Given the description of an element on the screen output the (x, y) to click on. 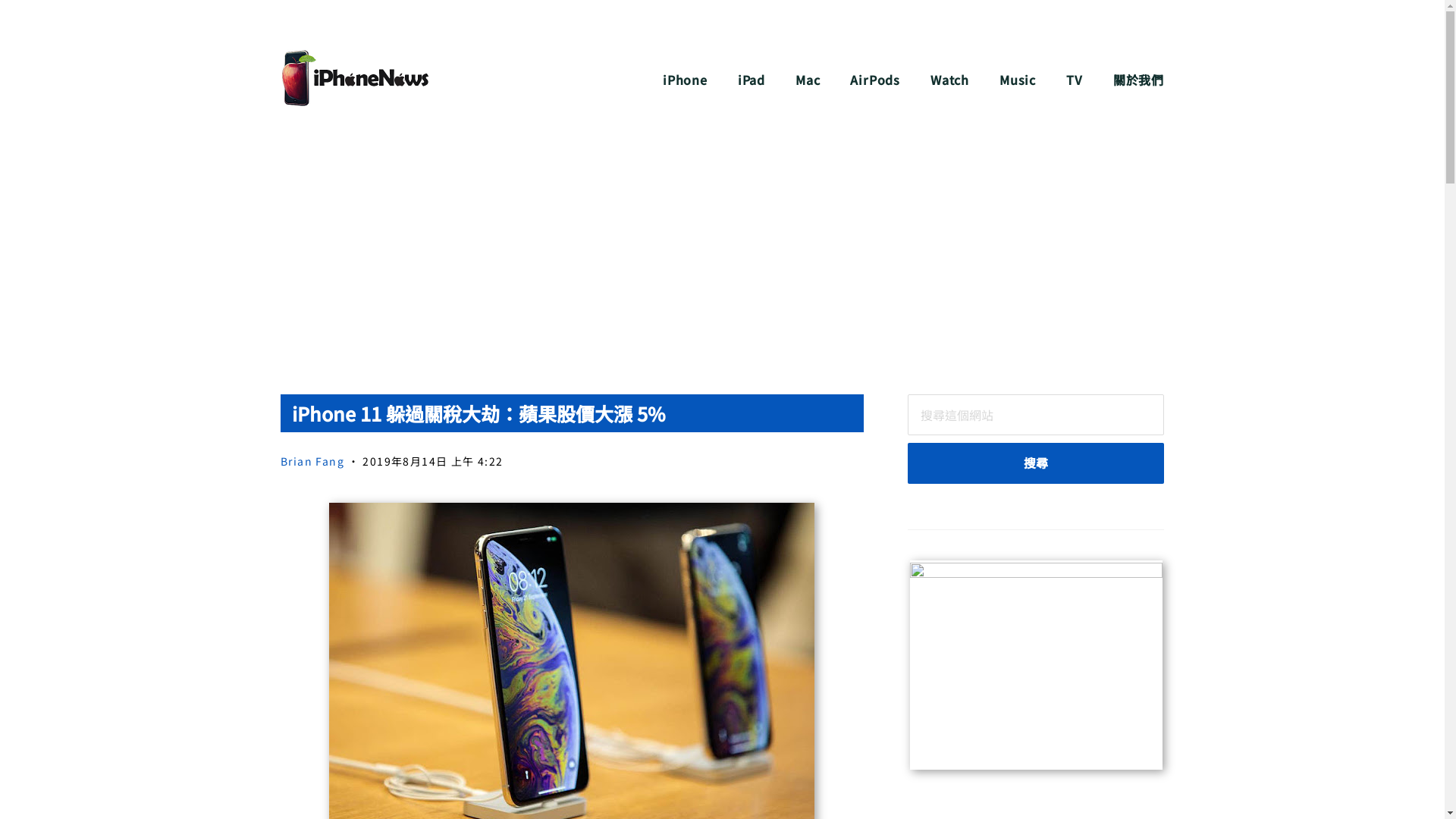
Brian Fang Element type: text (312, 460)
Music Element type: text (1017, 80)
TV Element type: text (1074, 80)
Advertisement Element type: hover (721, 257)
Watch Element type: text (949, 80)
Mac Element type: text (807, 80)
iPad Element type: text (751, 80)
iPhone Element type: text (684, 80)
AirPods Element type: text (875, 80)
